Given the description of an element on the screen output the (x, y) to click on. 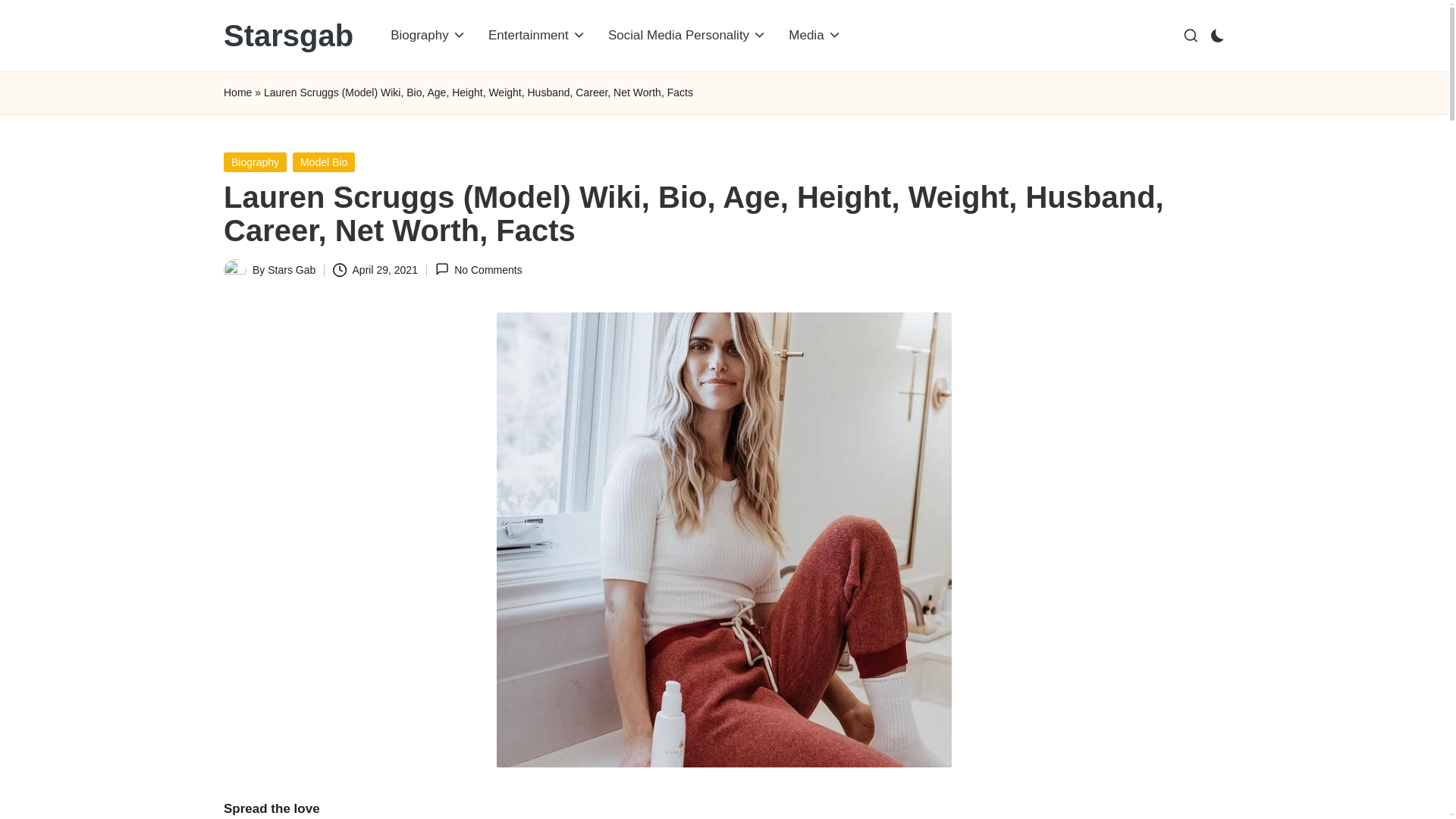
Starsgab (288, 35)
View all posts by Stars Gab (291, 269)
Biography (428, 35)
Social Media Personality (686, 35)
Entertainment (536, 35)
